Given the description of an element on the screen output the (x, y) to click on. 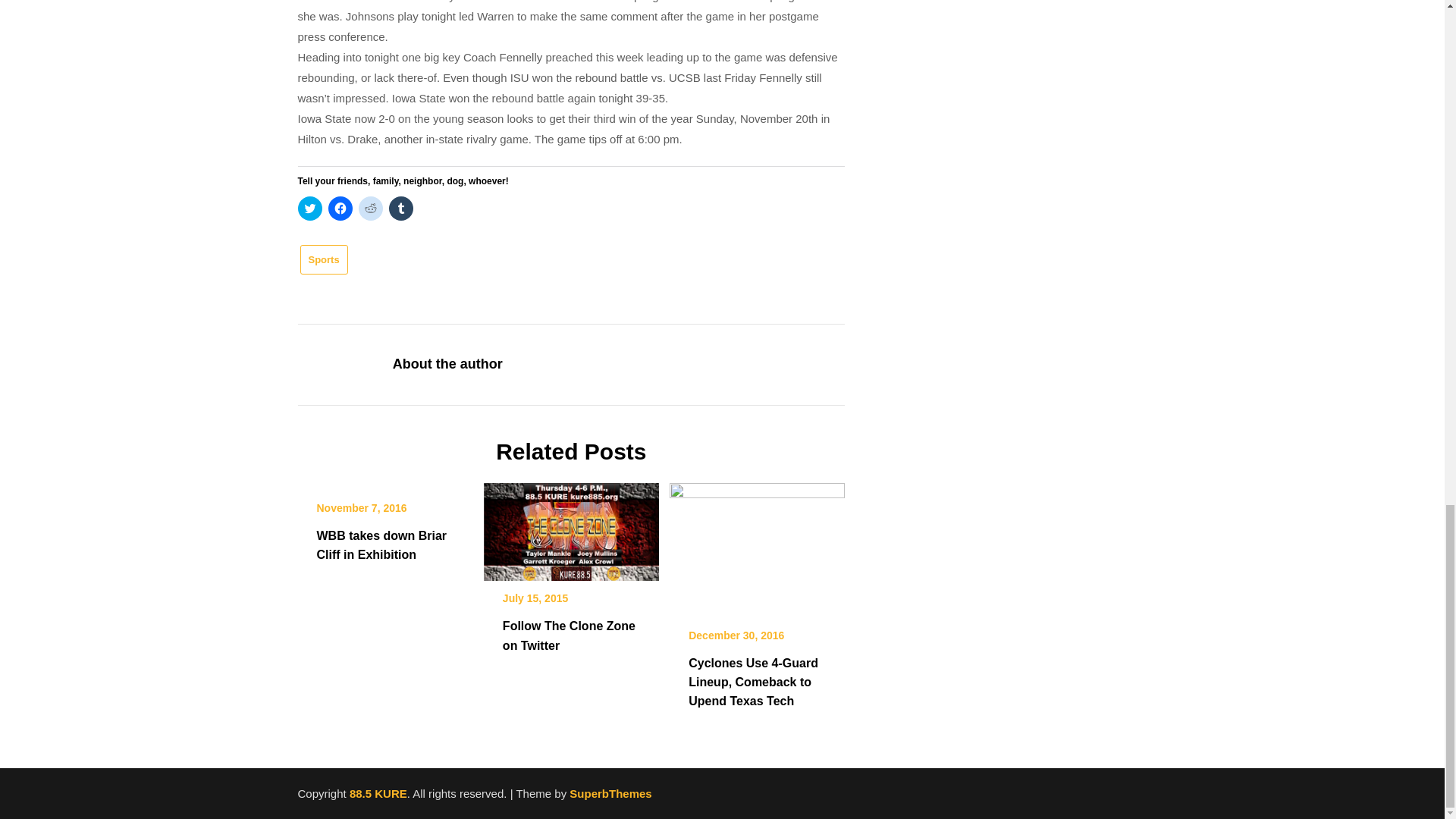
Click to share on Reddit (369, 208)
Follow The Clone Zone on Twitter (571, 526)
Click to share on Facebook (339, 208)
Click to share on Tumblr (400, 208)
Click to share on Twitter (309, 208)
